Given the description of an element on the screen output the (x, y) to click on. 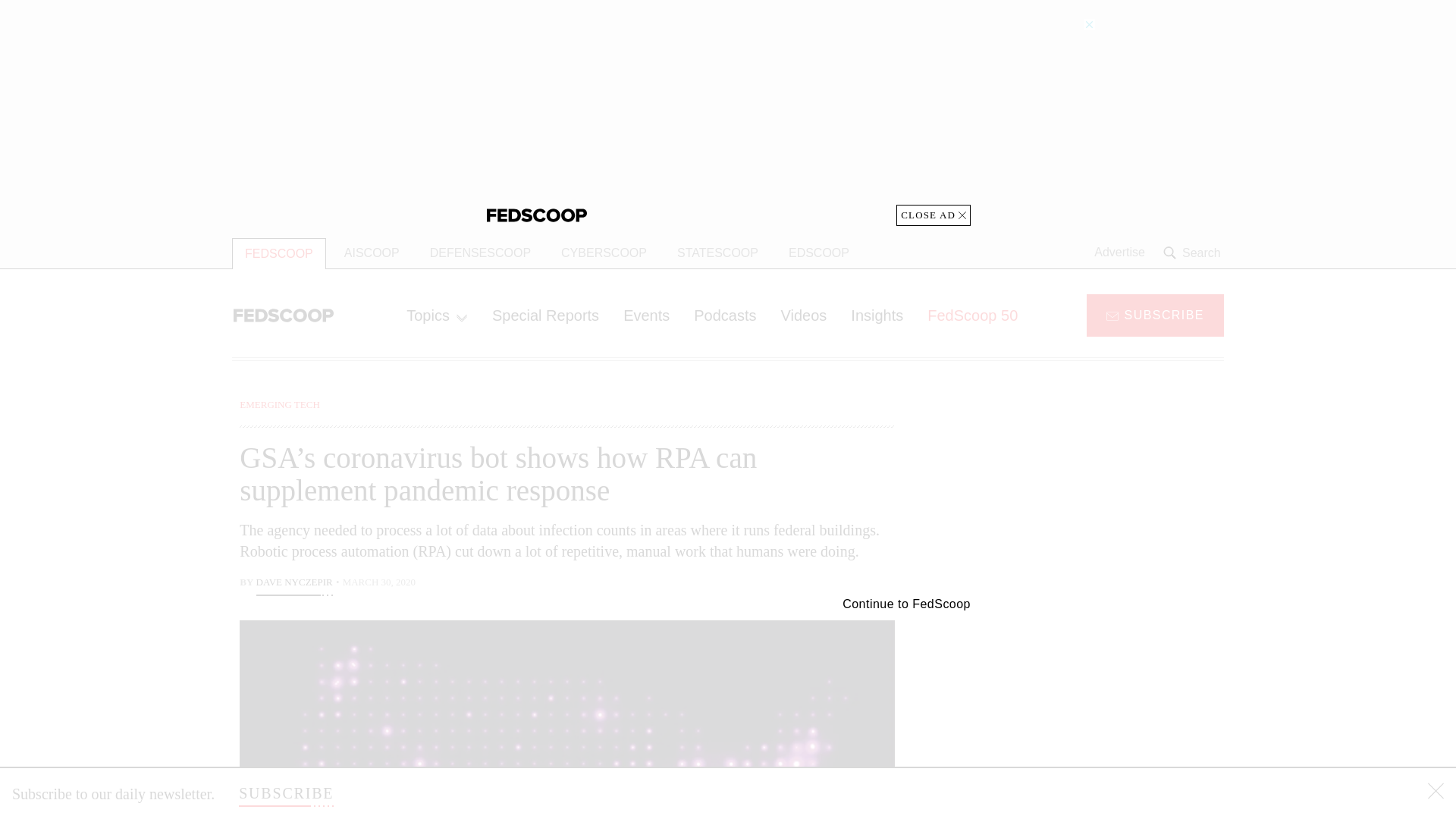
SUBSCRIBE (1155, 314)
AISCOOP (371, 253)
Insights (876, 315)
Special Reports (545, 315)
SUBSCRIBE (285, 793)
Topics (437, 315)
Events (646, 315)
DAVE NYCZEPIR (294, 583)
